Given the description of an element on the screen output the (x, y) to click on. 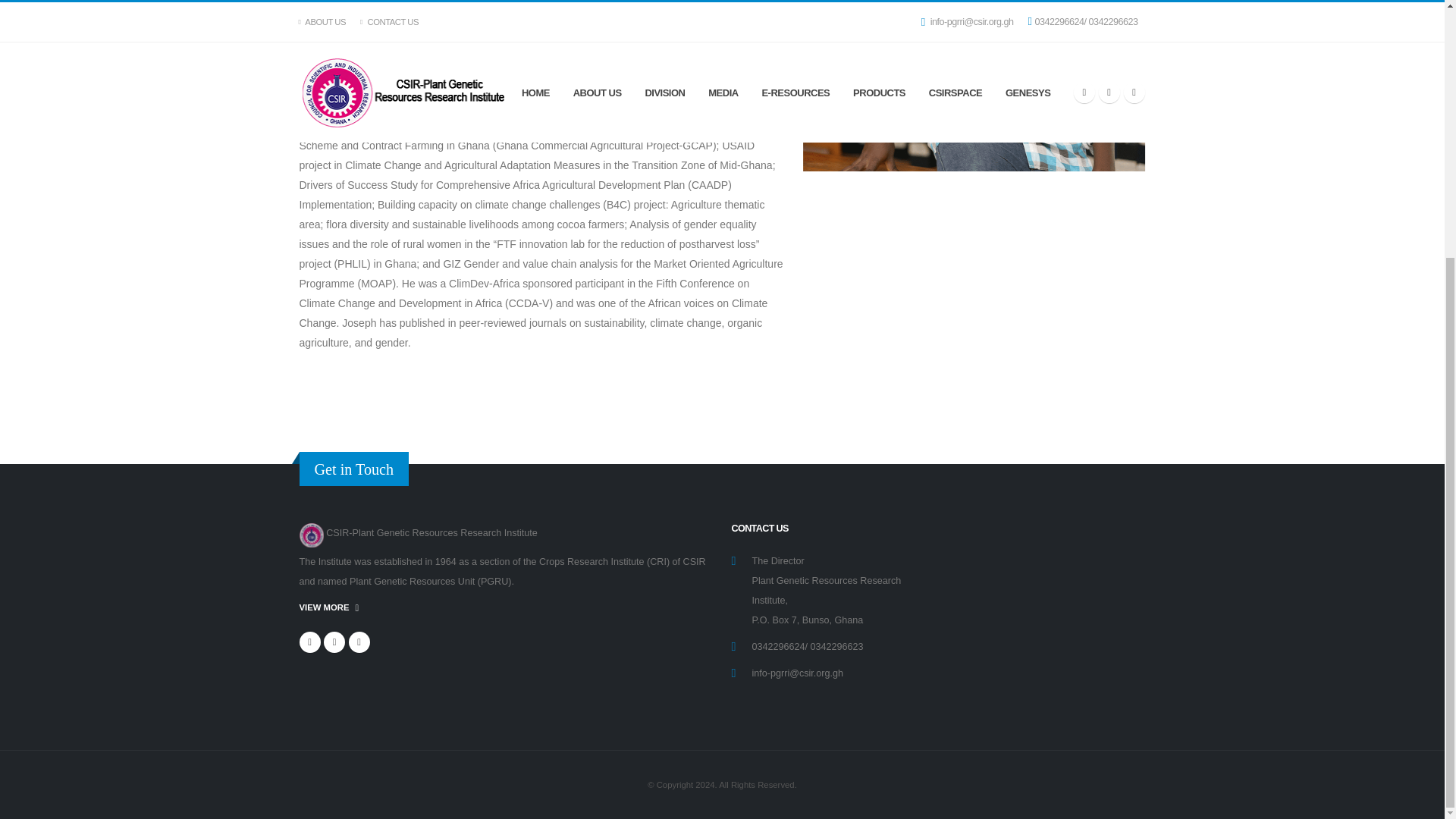
VIEW MORE (328, 606)
CSIR-Plant Genetic Resources Research Institute (423, 532)
Twitter (334, 641)
Facebook (309, 641)
Flickr (359, 641)
